Given the description of an element on the screen output the (x, y) to click on. 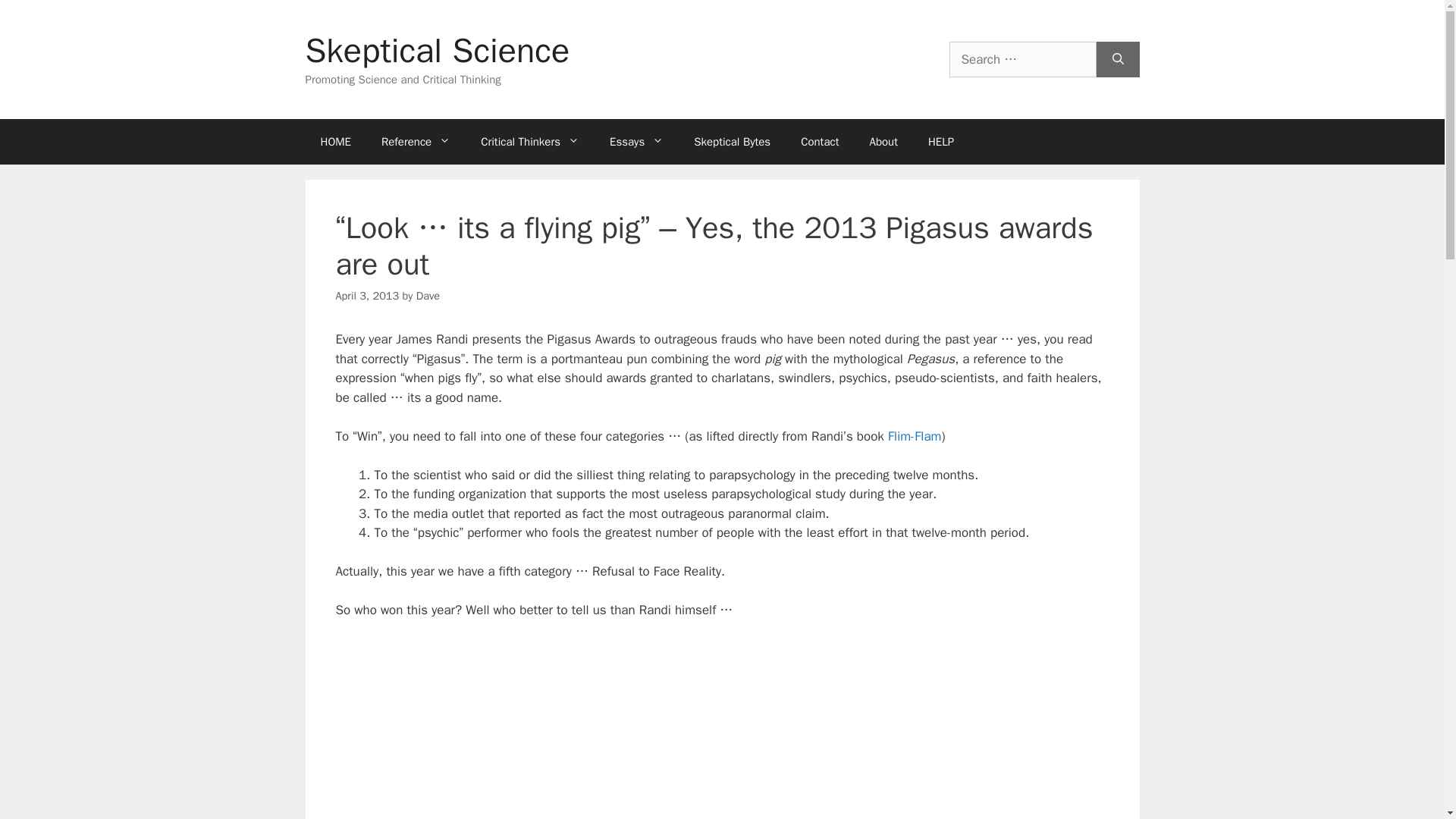
About (882, 140)
Search for: (1022, 58)
Dave (427, 295)
Skeptical Science (436, 50)
Essays (636, 140)
Skeptical Bytes (732, 140)
View all posts by Dave (427, 295)
Critical Thinkers (529, 140)
Contact (819, 140)
HELP (940, 140)
HOME (334, 140)
Flim-Flam (915, 436)
Reference (415, 140)
